Given the description of an element on the screen output the (x, y) to click on. 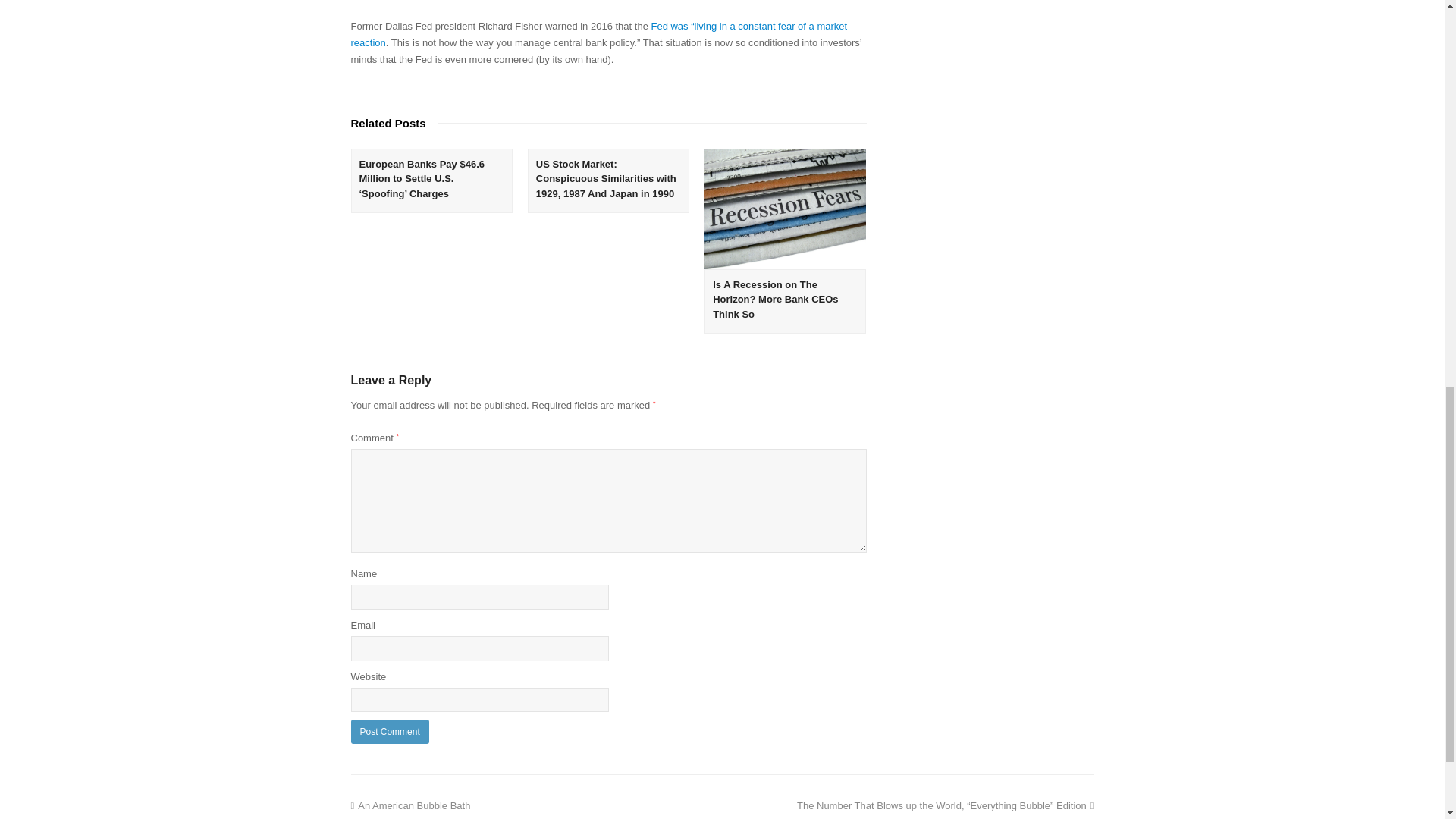
Post Comment (389, 730)
Post Comment (389, 730)
Is A Recession on The Horizon? More Bank CEOs Think So (775, 299)
Is A Recession on The Horizon? More Bank CEOs Think So (775, 299)
Is A Recession on The Horizon? More Bank CEOs Think So (785, 208)
An American Bubble Bath (410, 805)
